Given the description of an element on the screen output the (x, y) to click on. 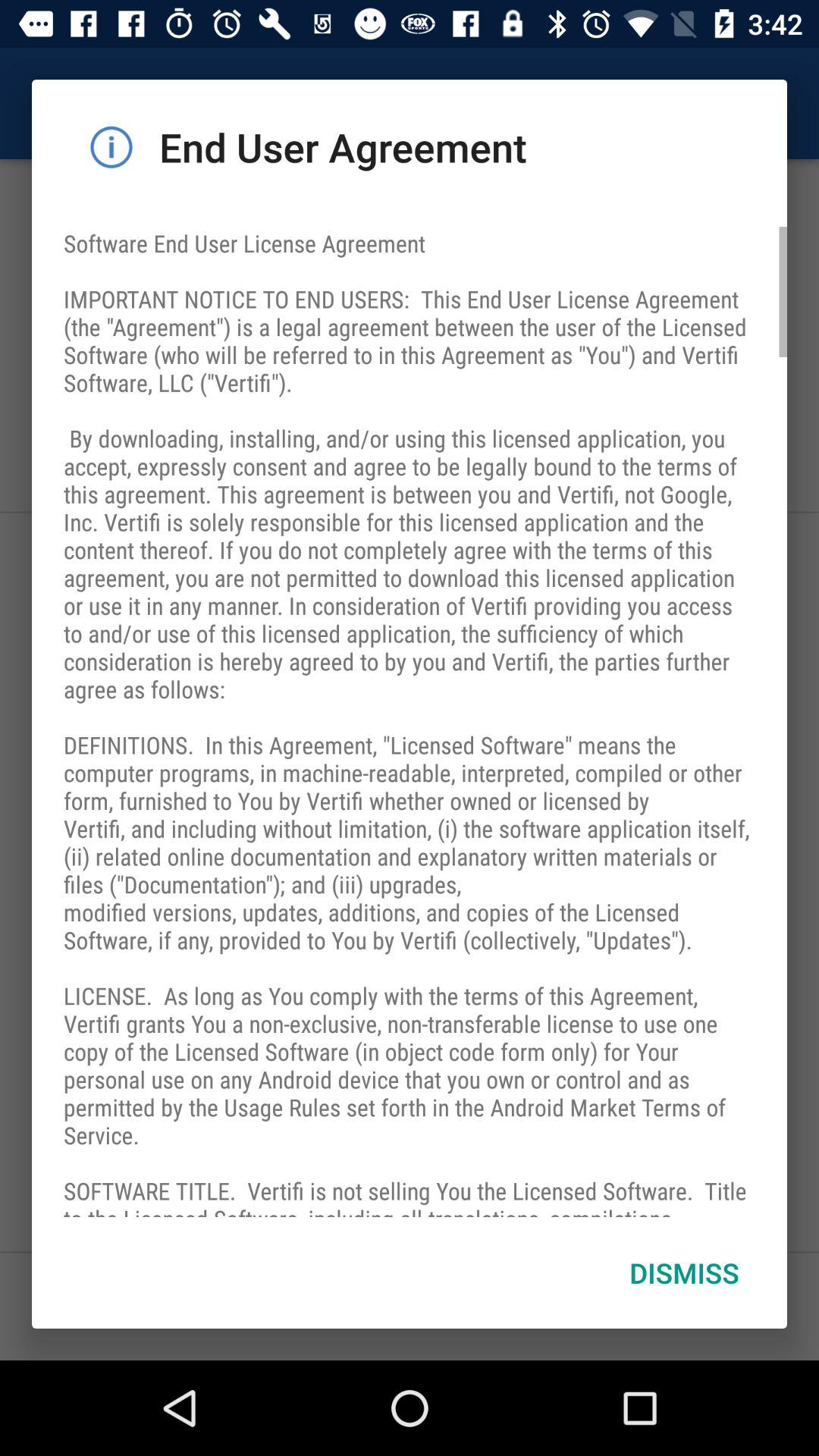
jump to the dismiss item (684, 1272)
